Given the description of an element on the screen output the (x, y) to click on. 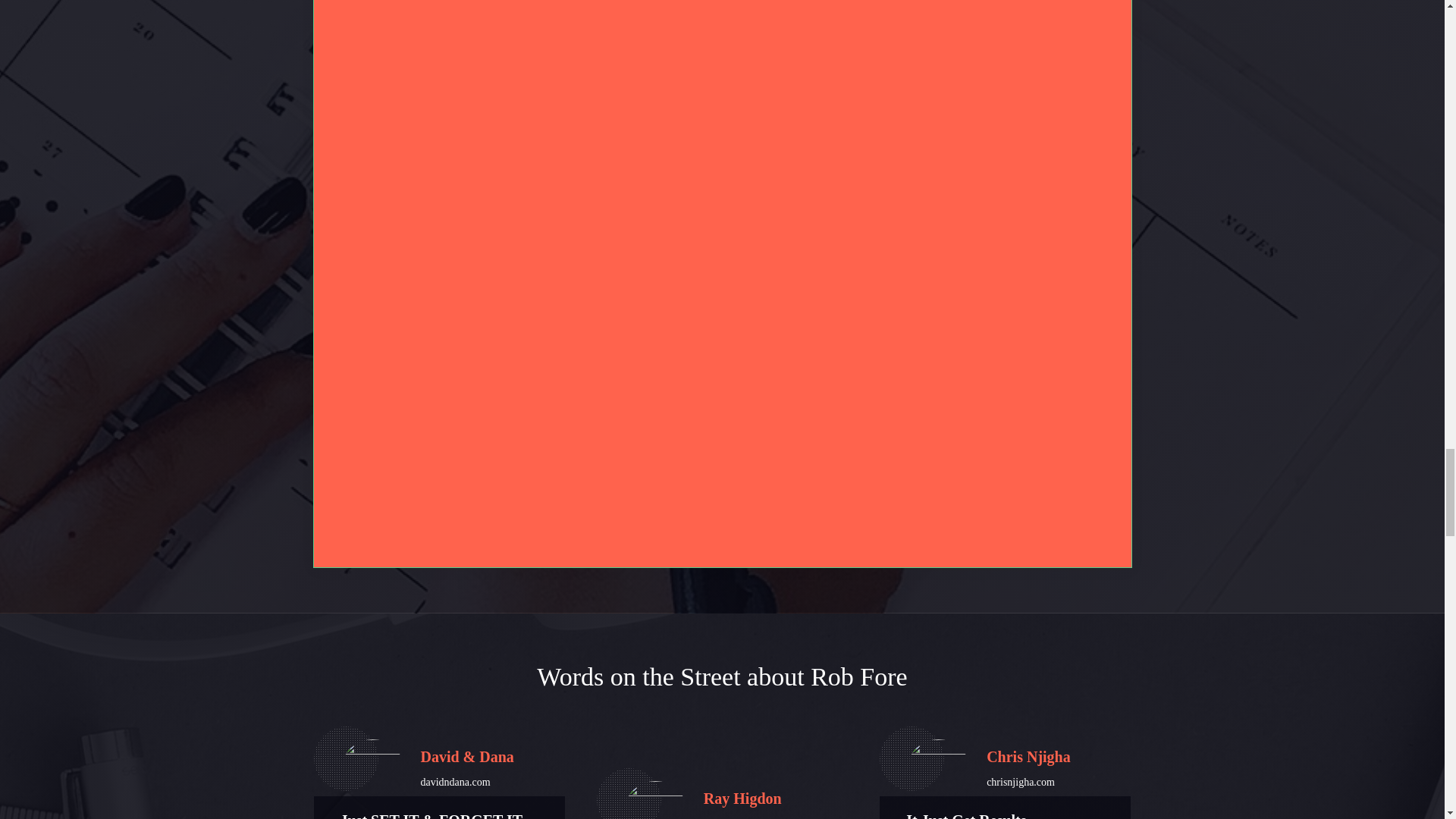
ChrisNjigha-min (938, 771)
davidndana-min (371, 771)
rayhigdon (655, 800)
